Given the description of an element on the screen output the (x, y) to click on. 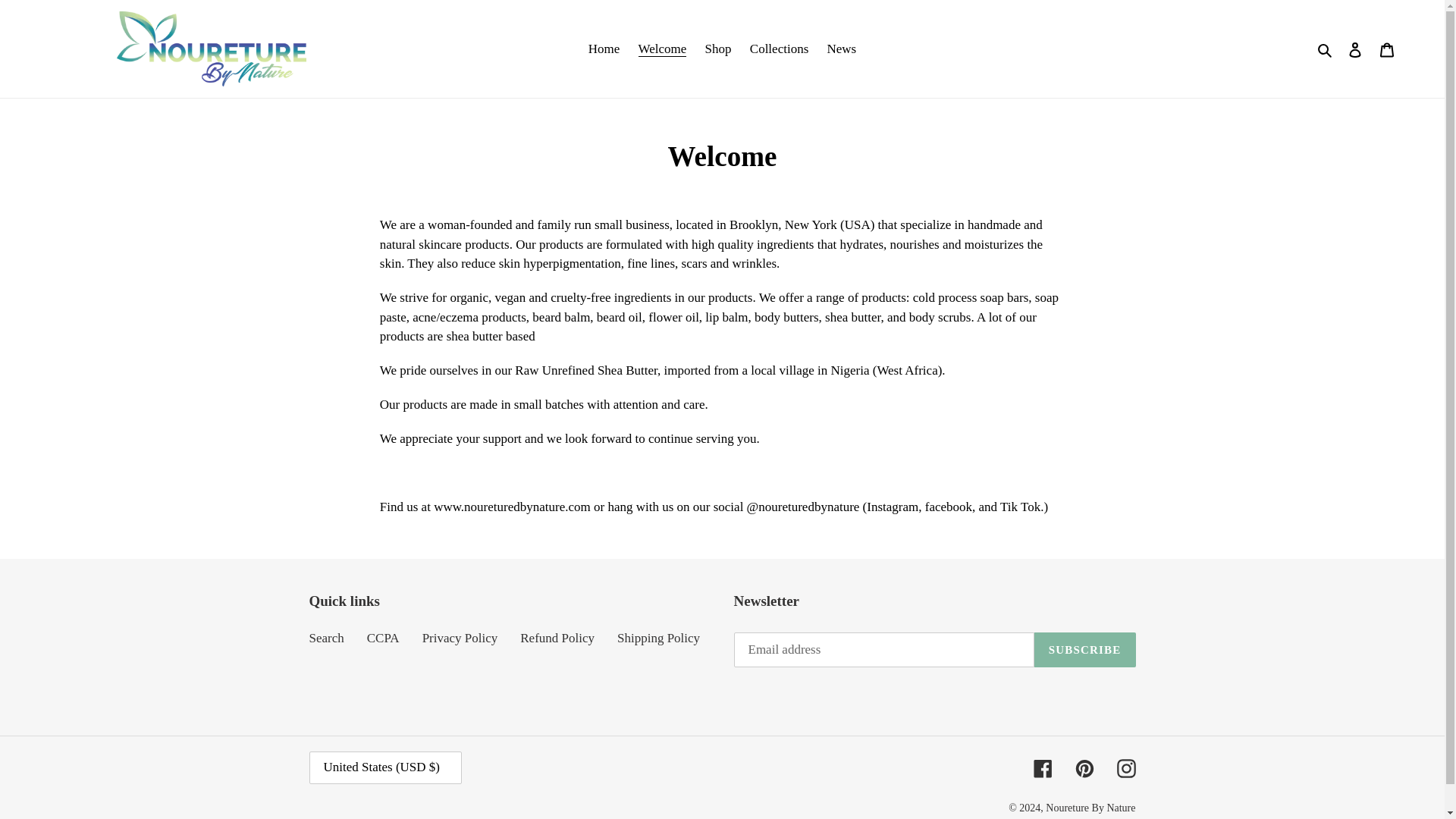
Refund Policy (556, 637)
Home (603, 48)
Shop (718, 48)
Log in (1355, 48)
News (841, 48)
Search (325, 637)
CCPA (382, 637)
Welcome (662, 48)
Search (1326, 48)
Shipping Policy (658, 637)
SUBSCRIBE (1084, 649)
Cart (1387, 48)
Collections (778, 48)
Privacy Policy (459, 637)
